Given the description of an element on the screen output the (x, y) to click on. 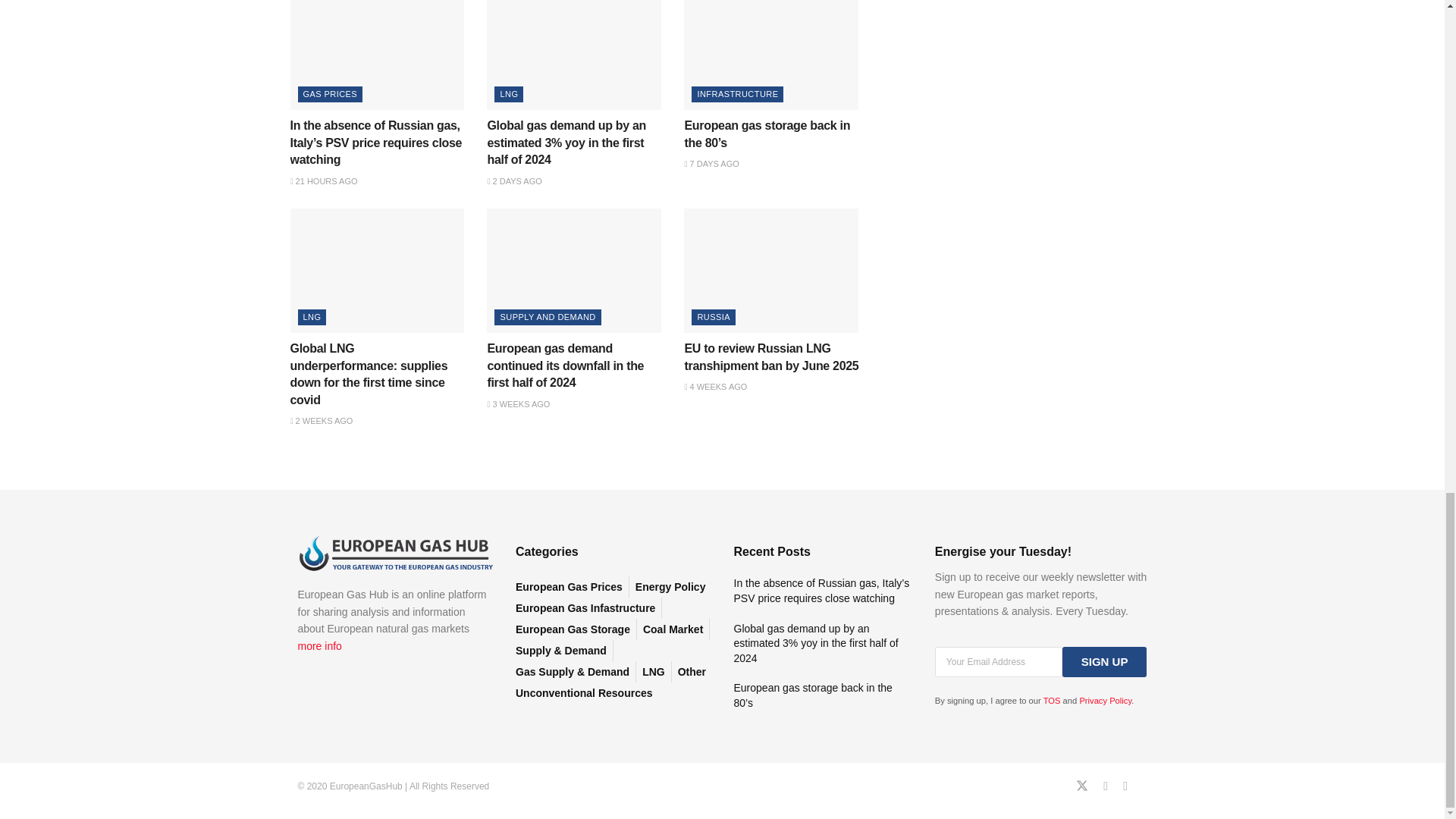
Privacy Policy (1104, 699)
